Given the description of an element on the screen output the (x, y) to click on. 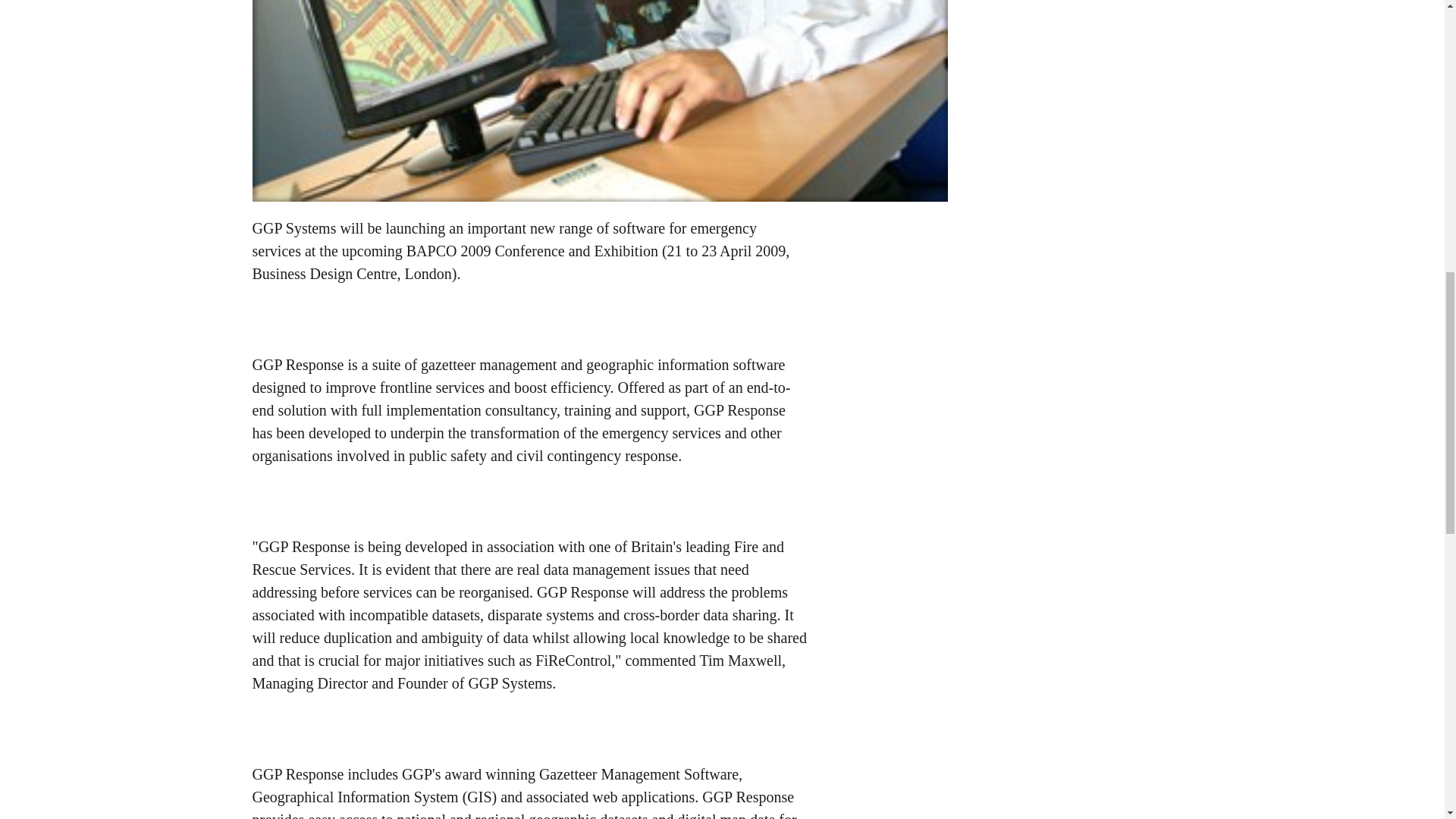
3rd party ad content (1088, 65)
